Given the description of an element on the screen output the (x, y) to click on. 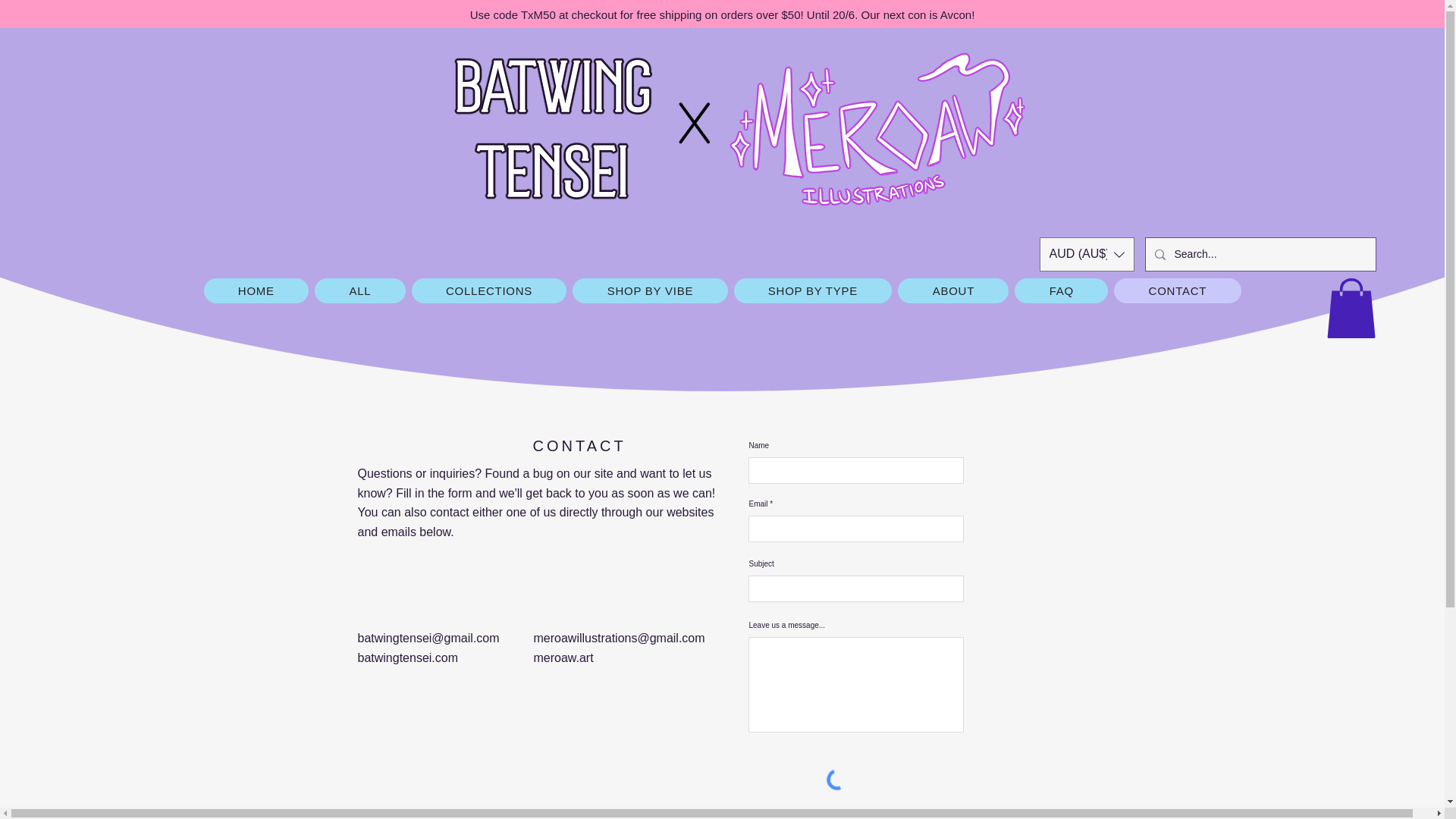
ABOUT (953, 290)
Submit (926, 815)
FAQ (1061, 290)
SHOP BY TYPE (812, 290)
HOME (255, 290)
ALL (360, 290)
CONTACT (1176, 290)
